Given the description of an element on the screen output the (x, y) to click on. 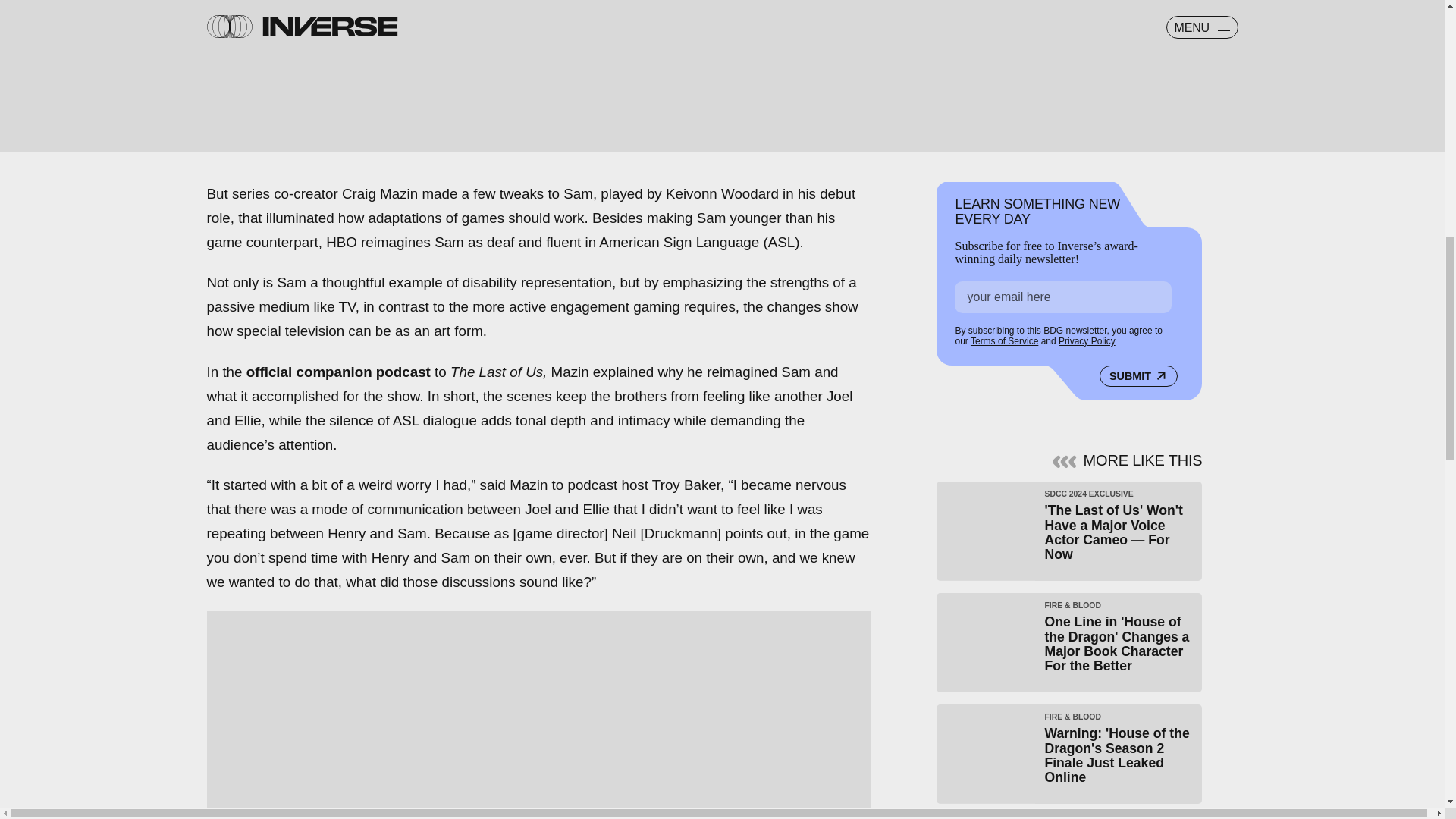
Terms of Service (1004, 340)
SUBMIT (1138, 375)
official companion podcast (338, 371)
Privacy Policy (1086, 340)
